Given the description of an element on the screen output the (x, y) to click on. 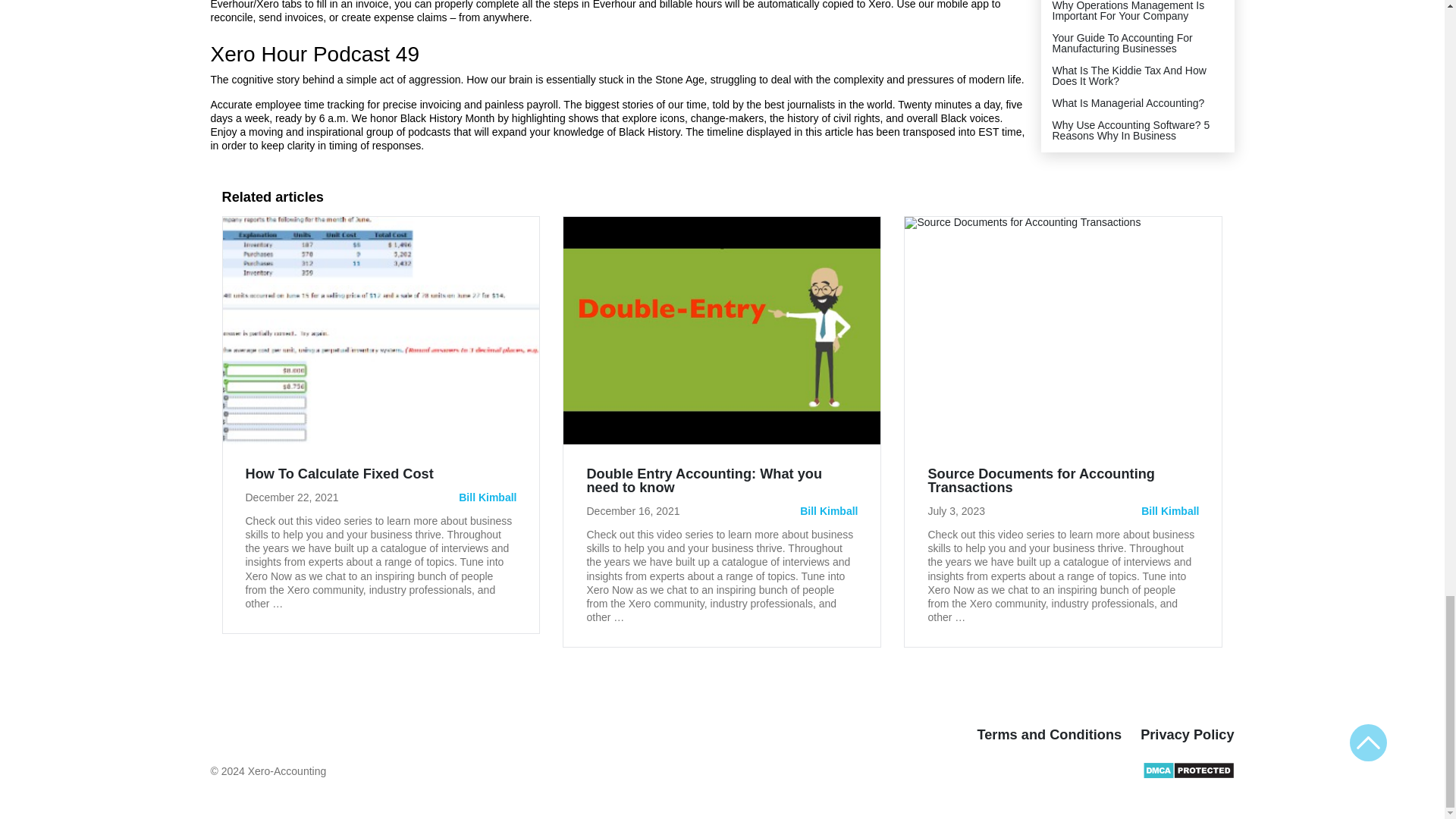
Source Documents for Accounting Transactions (1062, 488)
DMCA.com Protection Status (1187, 775)
How To Calculate Fixed Cost (339, 474)
Double Entry Accounting: What you need to know (721, 488)
Bill Kimball (828, 511)
Privacy Policy (1186, 734)
Bill Kimball (1169, 511)
Terms and Conditions (1048, 734)
Bill Kimball (487, 497)
